Given the description of an element on the screen output the (x, y) to click on. 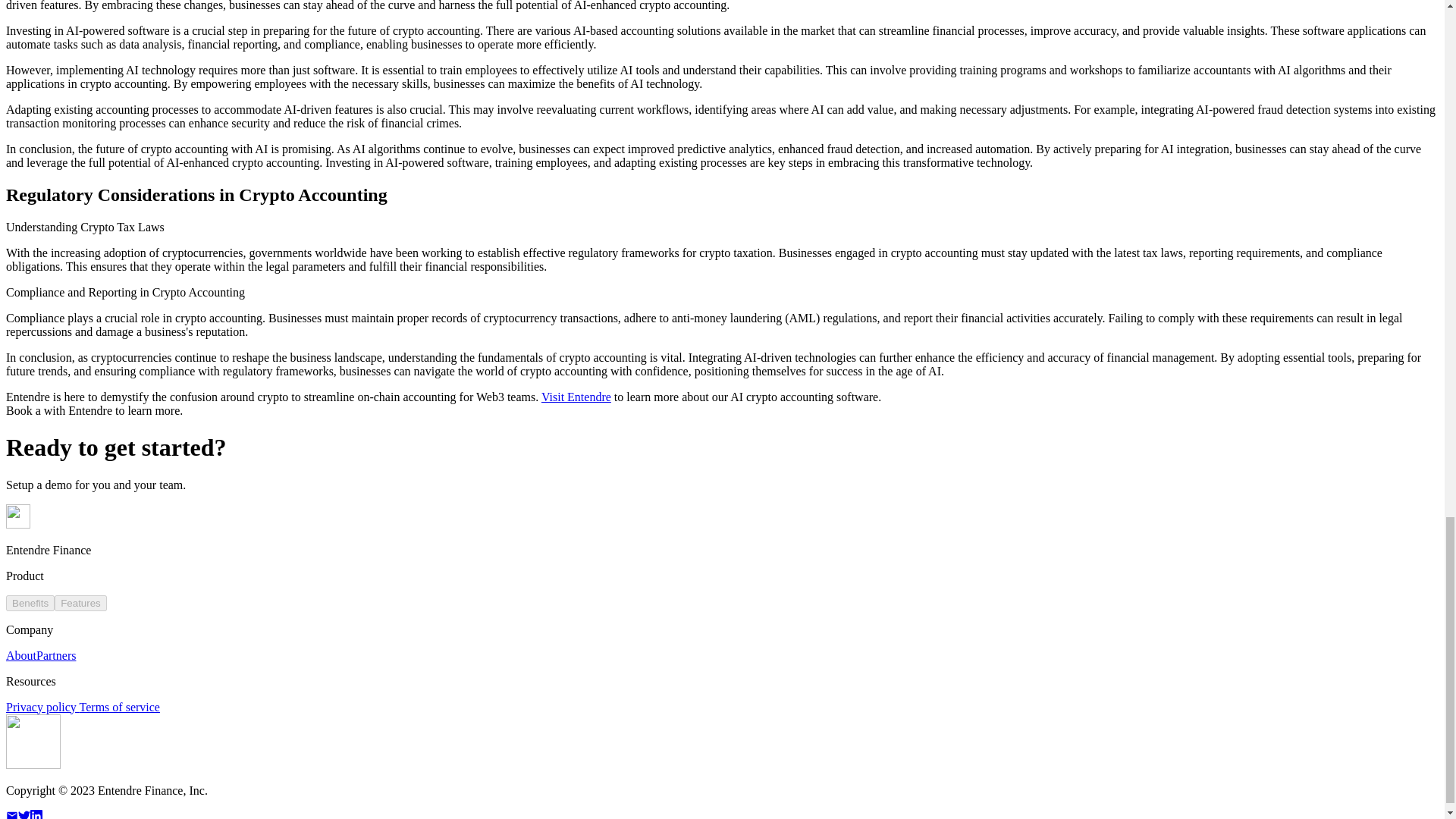
Features (80, 602)
Terms of service (120, 707)
Benefits (30, 602)
Privacy policy (42, 707)
Visit Entendre (576, 396)
Partners (55, 655)
About (20, 655)
